Given the description of an element on the screen output the (x, y) to click on. 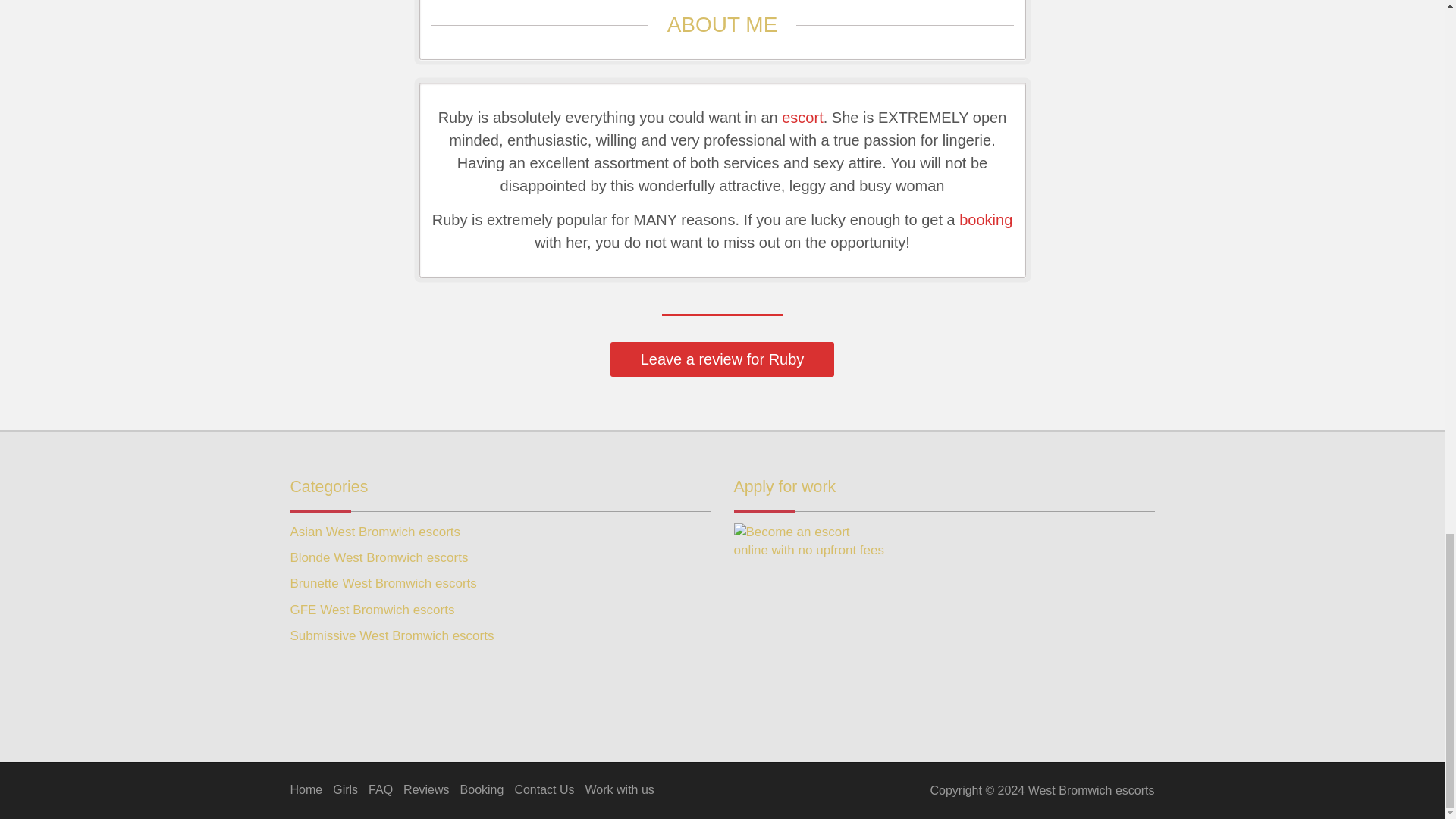
booking (985, 219)
GFE West Bromwich escorts (371, 609)
Brunette West Bromwich escorts (382, 583)
Blonde West Bromwich escorts (378, 557)
Asian West Bromwich escorts (374, 531)
escort (801, 117)
Leave a review for Ruby (722, 359)
